Given the description of an element on the screen output the (x, y) to click on. 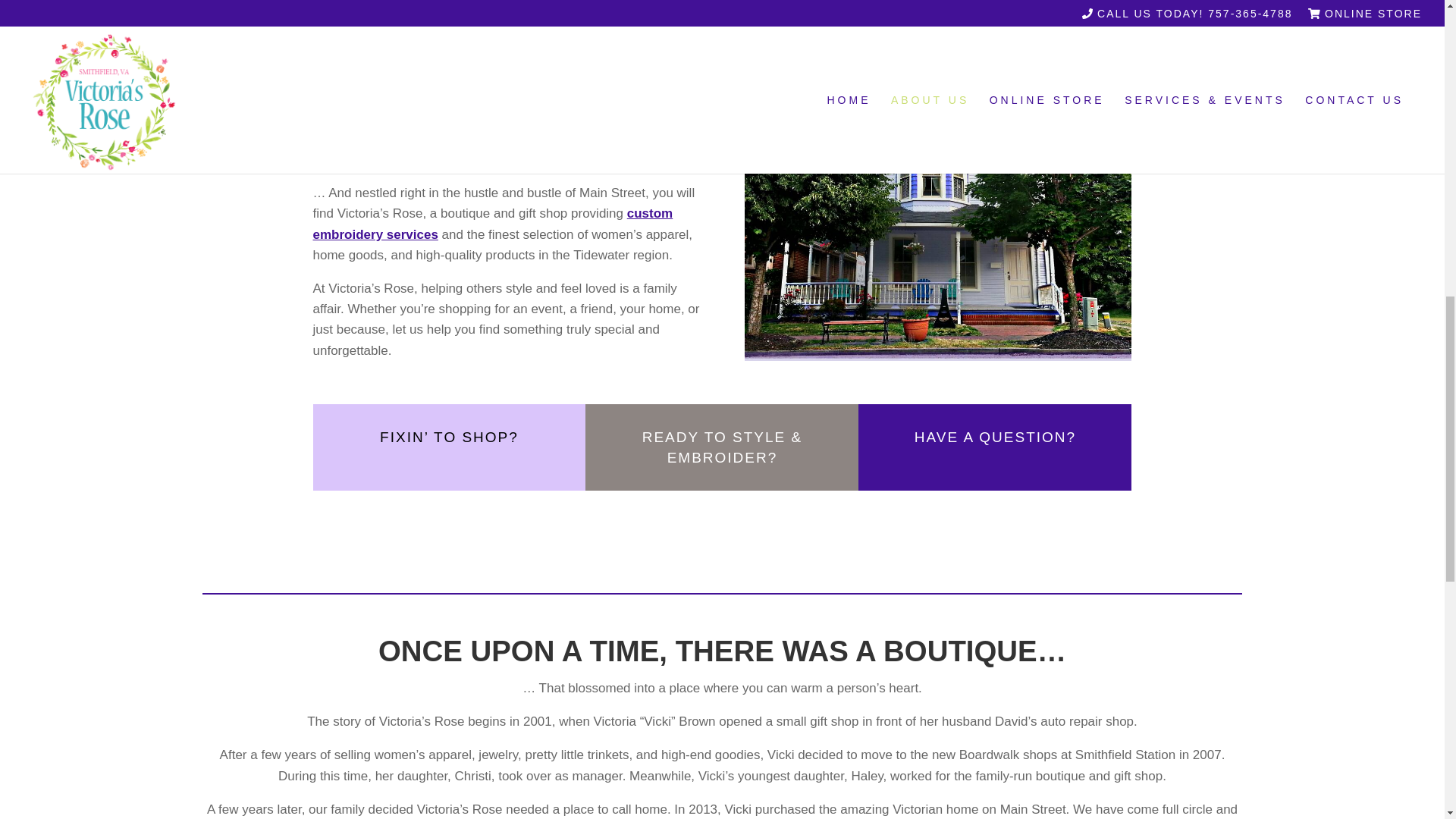
custom embroidery services (492, 223)
